Given the description of an element on the screen output the (x, y) to click on. 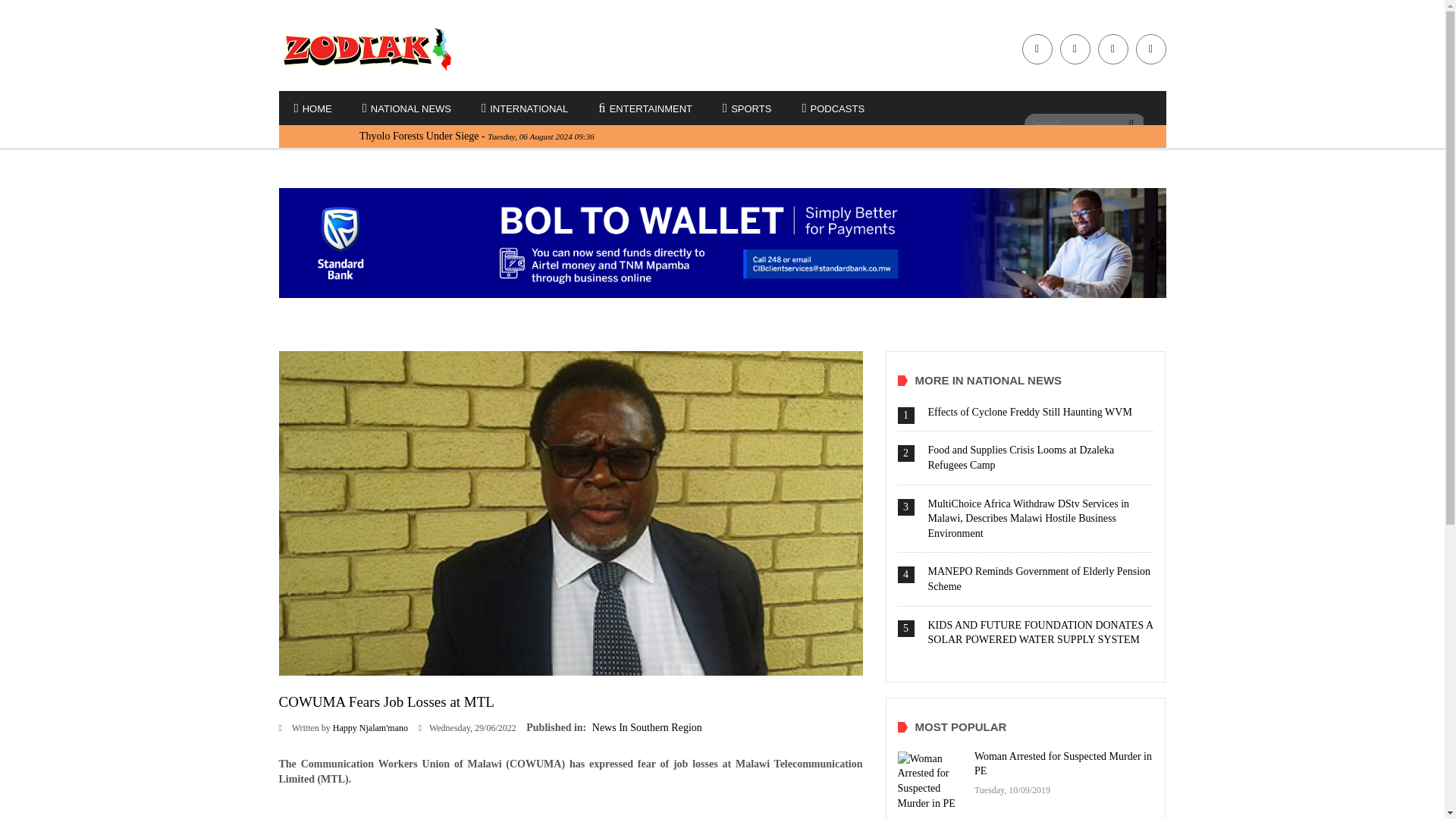
MANEPO Reminds Government of Elderly Pension Scheme (1039, 578)
SPORTS (746, 108)
Deleza says they want other players to come in MTL (571, 511)
HOME (313, 108)
PODCASTS (832, 108)
Happy Njalam'mano (370, 727)
NATIONAL NEWS (406, 108)
Food and Supplies Crisis Looms at Dzaleka Refugees Camp (1021, 457)
Woman Arrested for Suspected Murder in PE (1062, 764)
